Given the description of an element on the screen output the (x, y) to click on. 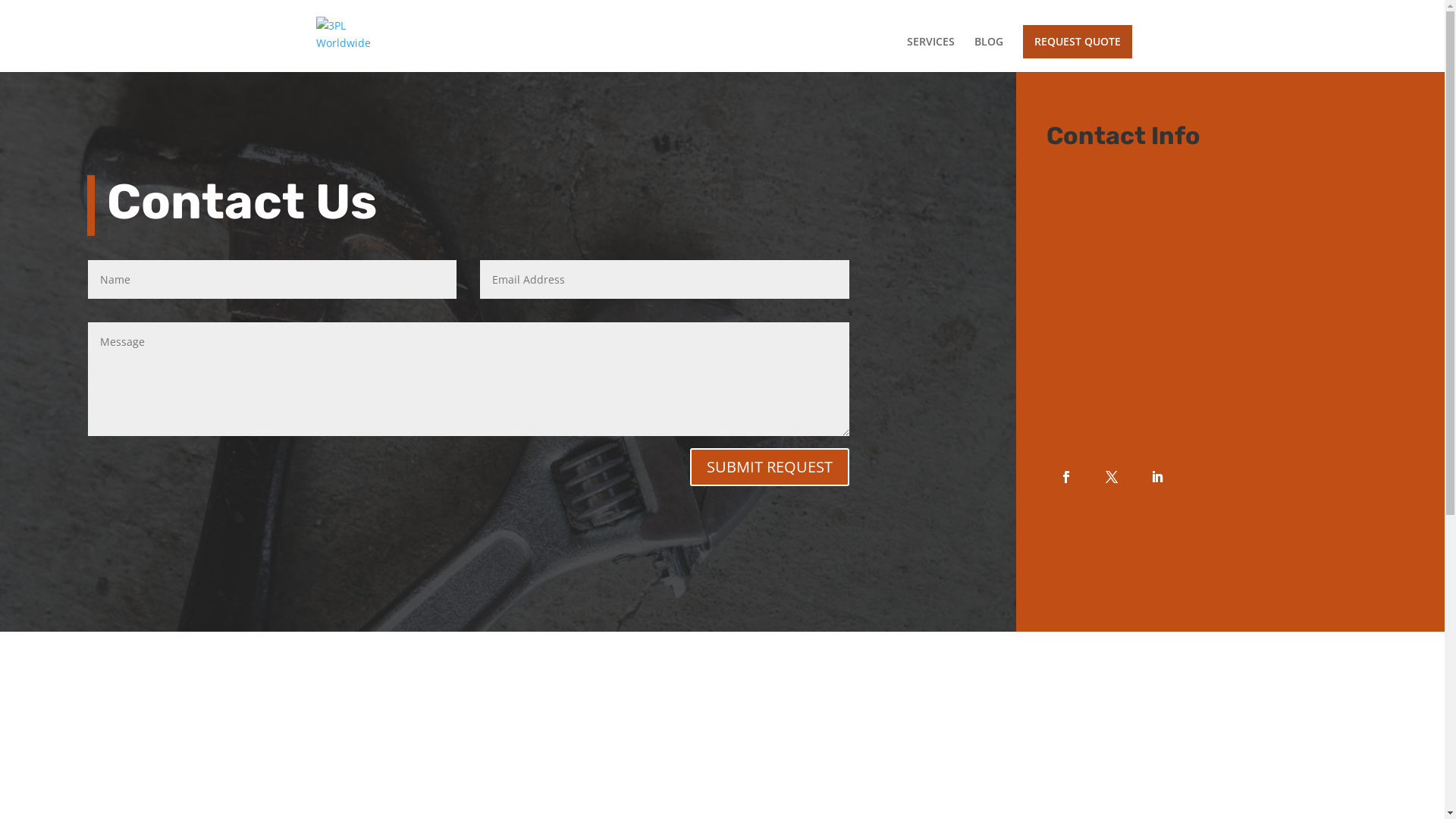
REQUEST QUOTE Element type: text (1076, 41)
BLOG Element type: text (987, 54)
SUBMIT REQUEST Element type: text (769, 467)
Follow on Facebook Element type: hover (1065, 476)
SERVICES Element type: text (930, 54)
Follow on LinkedIn Element type: hover (1156, 476)
Follow on X Element type: hover (1111, 476)
